Given the description of an element on the screen output the (x, y) to click on. 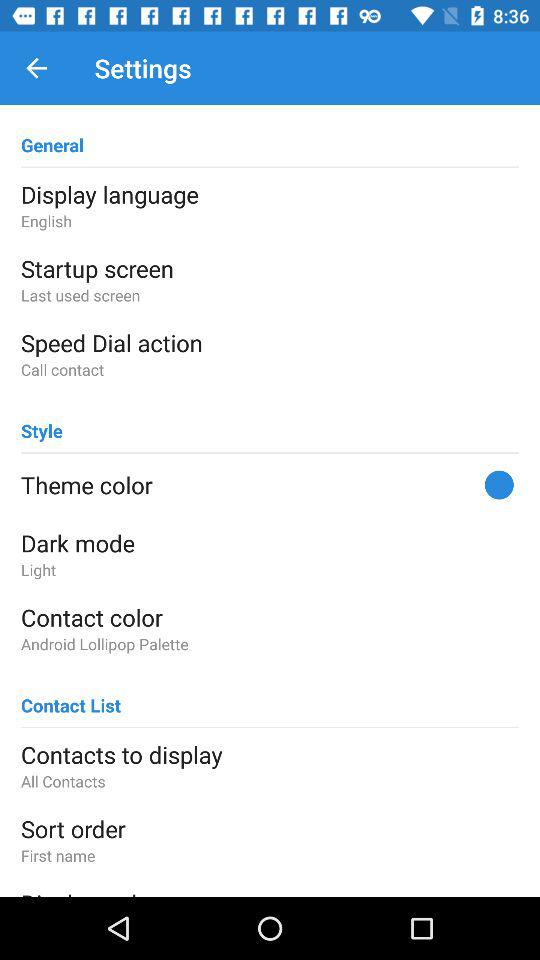
press item above call contact icon (270, 342)
